Given the description of an element on the screen output the (x, y) to click on. 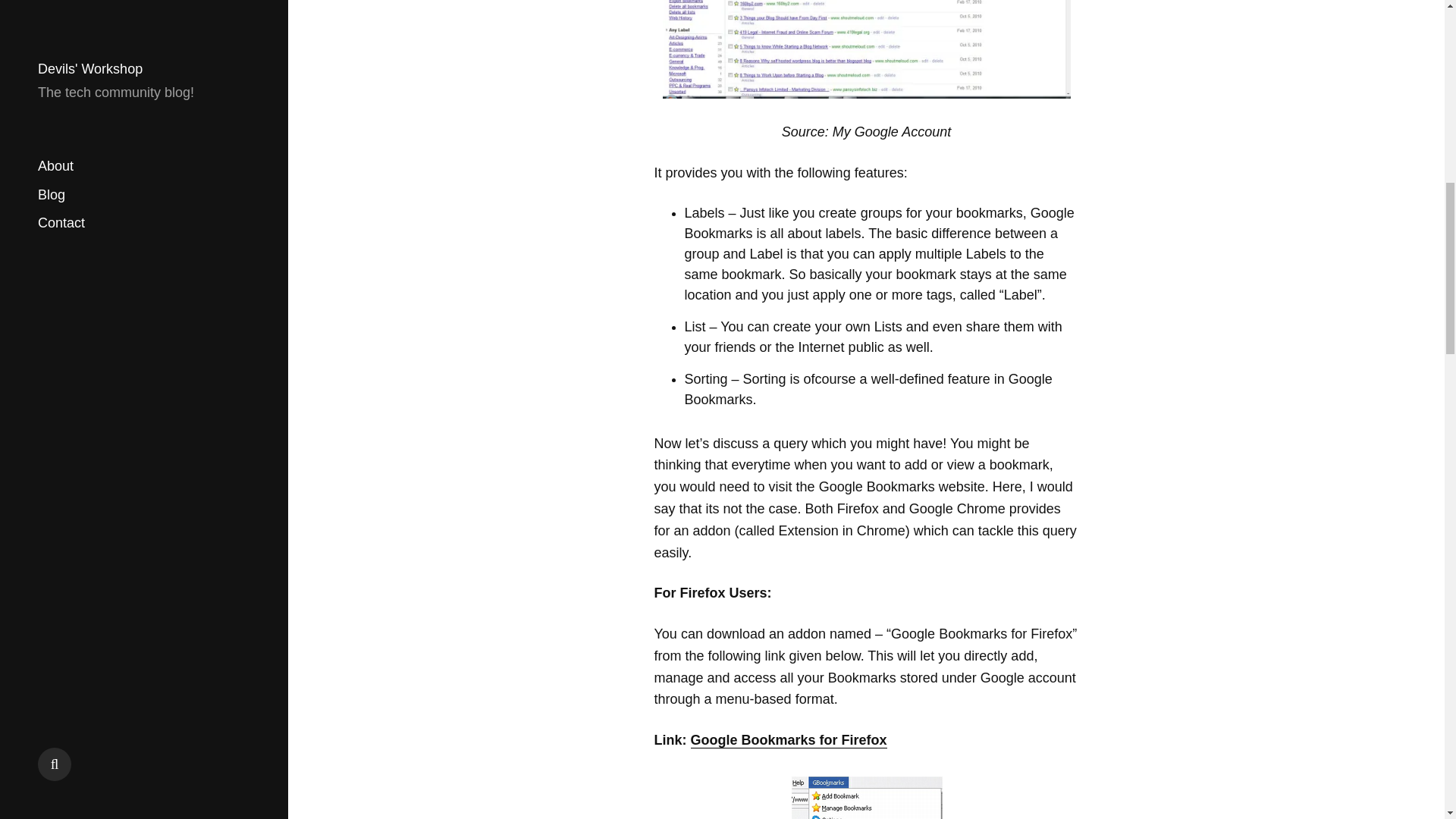
Google Bookmarks Menu (866, 796)
Google Bookmarks (866, 49)
Google Bookmarks for Firefox (788, 740)
